Given the description of an element on the screen output the (x, y) to click on. 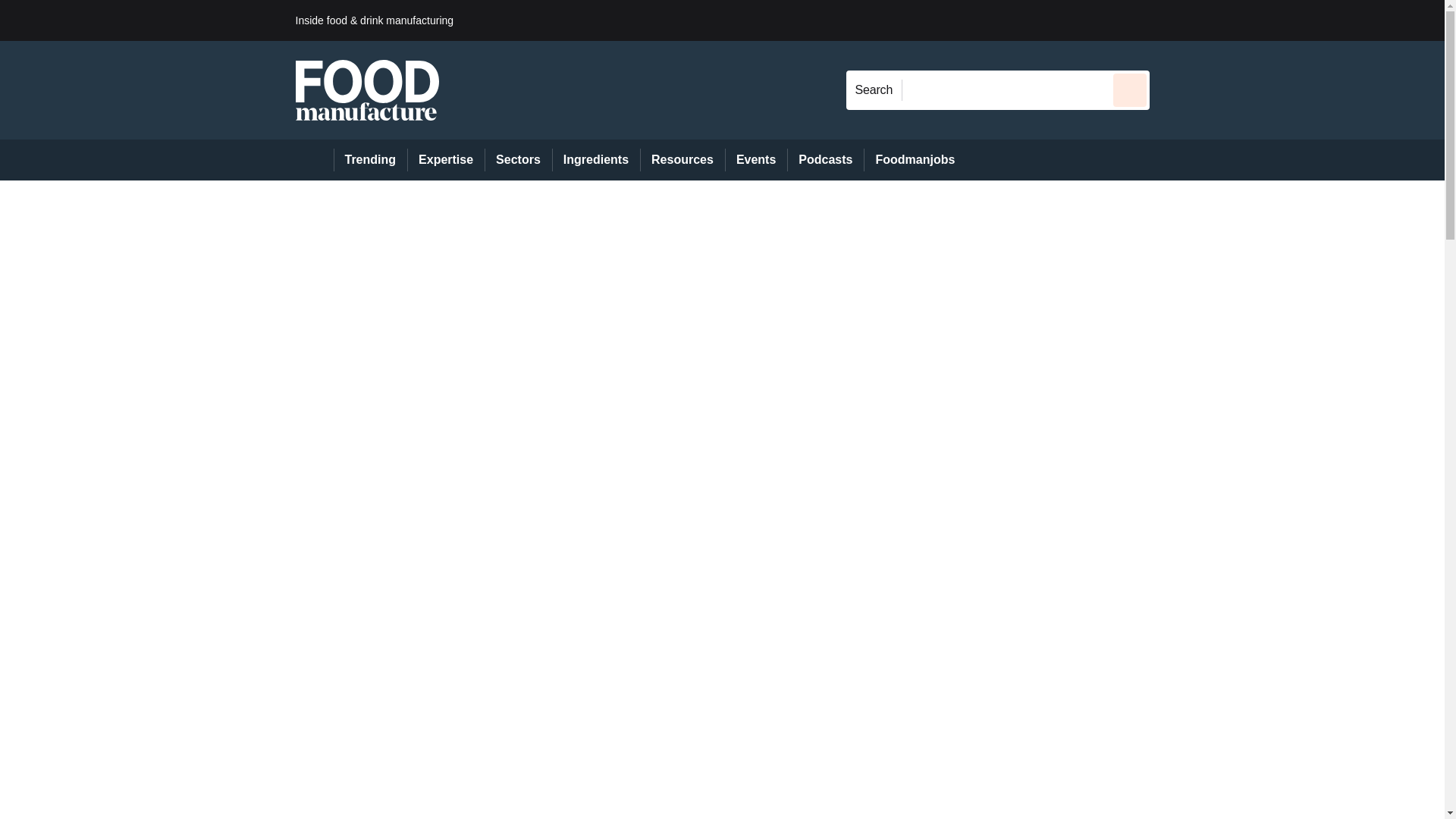
Home (314, 159)
Trending (370, 159)
Send (1129, 90)
FoodManufacture (367, 89)
Expertise (445, 159)
Home (313, 159)
REGISTER (1250, 20)
My account (1256, 20)
Sign in (1171, 20)
Send (1129, 89)
